Given the description of an element on the screen output the (x, y) to click on. 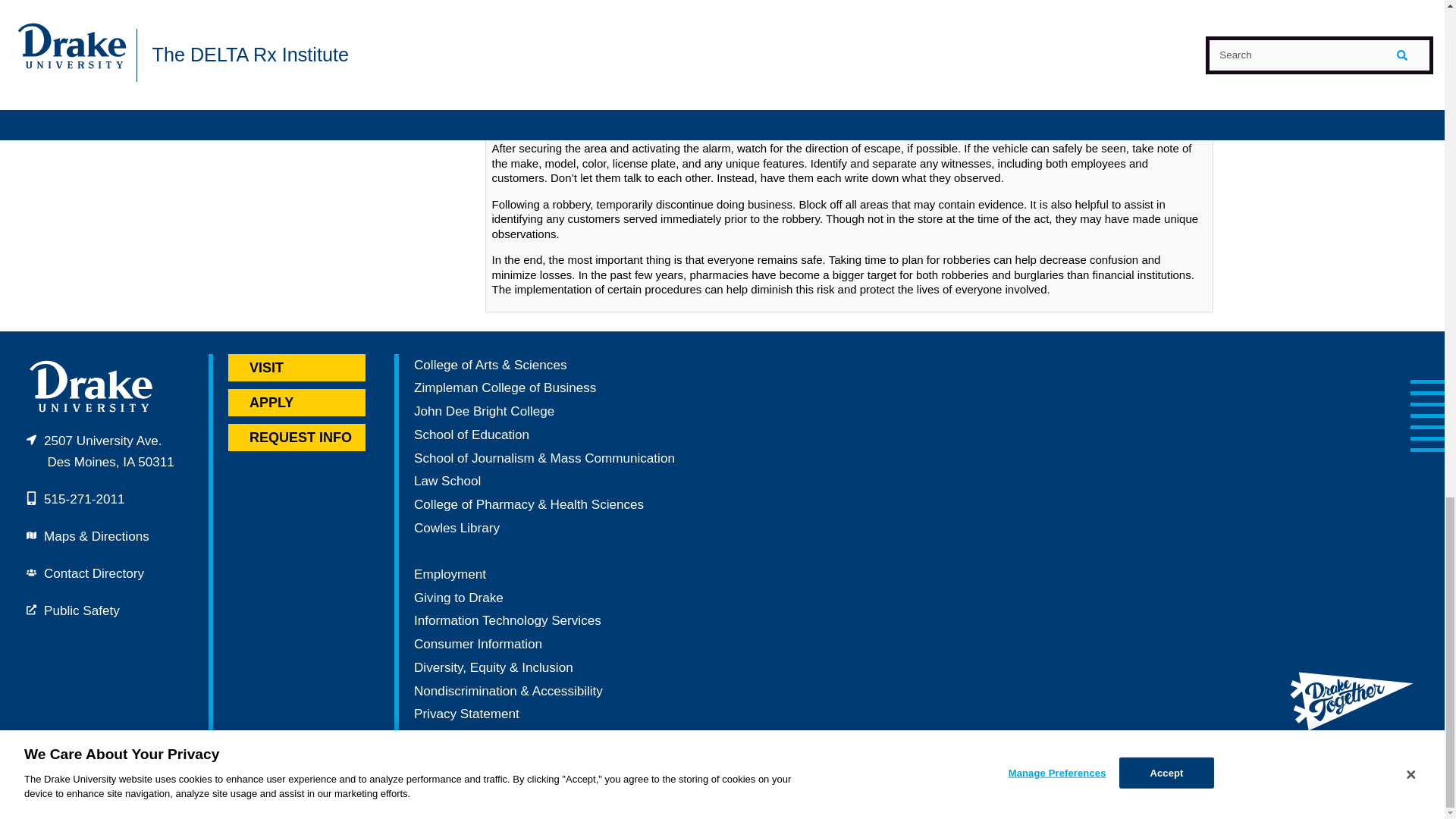
Contact Directory (93, 573)
Make a financial contribution to Drake University (458, 597)
Public Safety (81, 610)
2507 University Ave (100, 452)
